Given the description of an element on the screen output the (x, y) to click on. 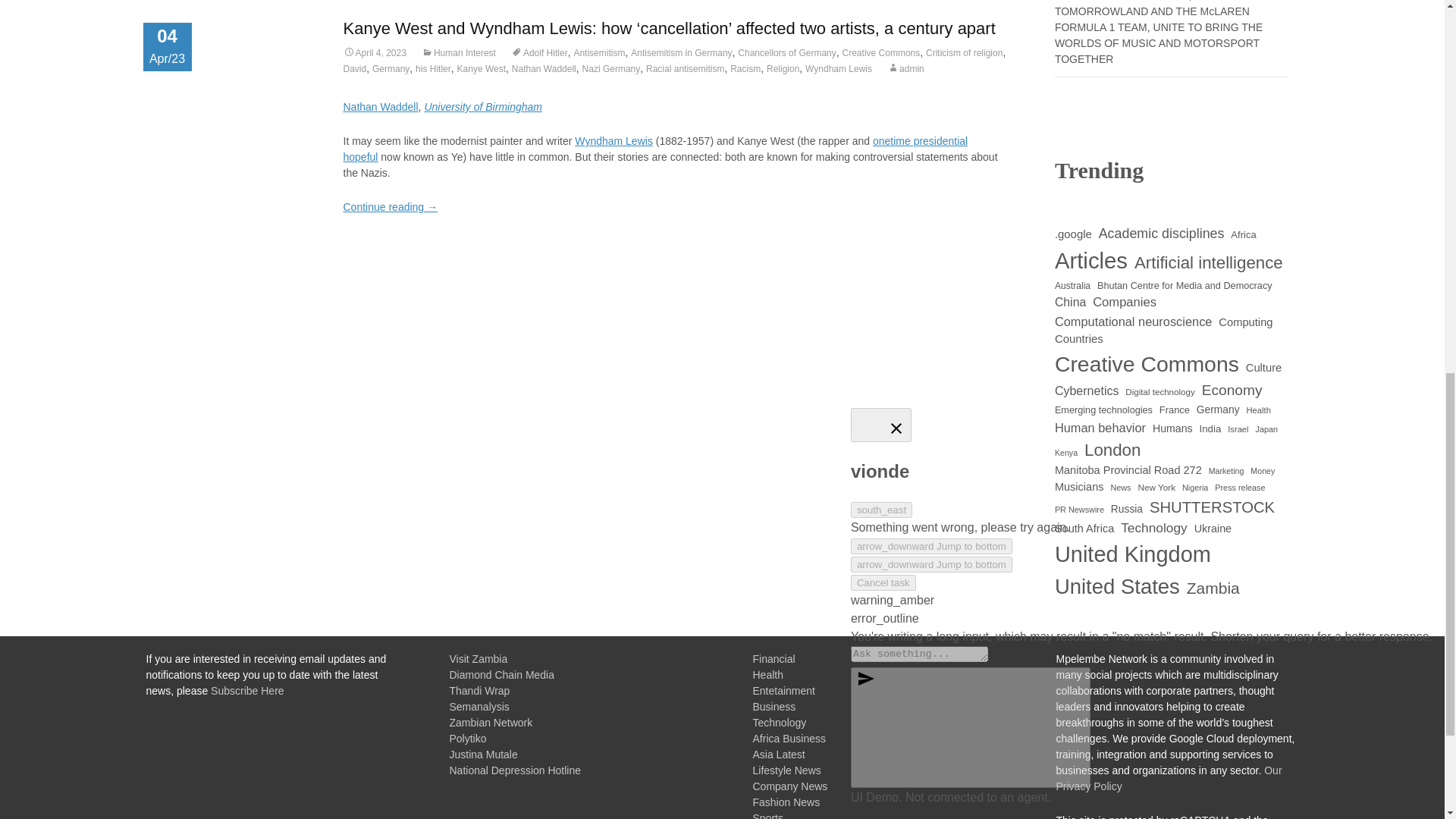
View all posts by admin (905, 68)
